Given the description of an element on the screen output the (x, y) to click on. 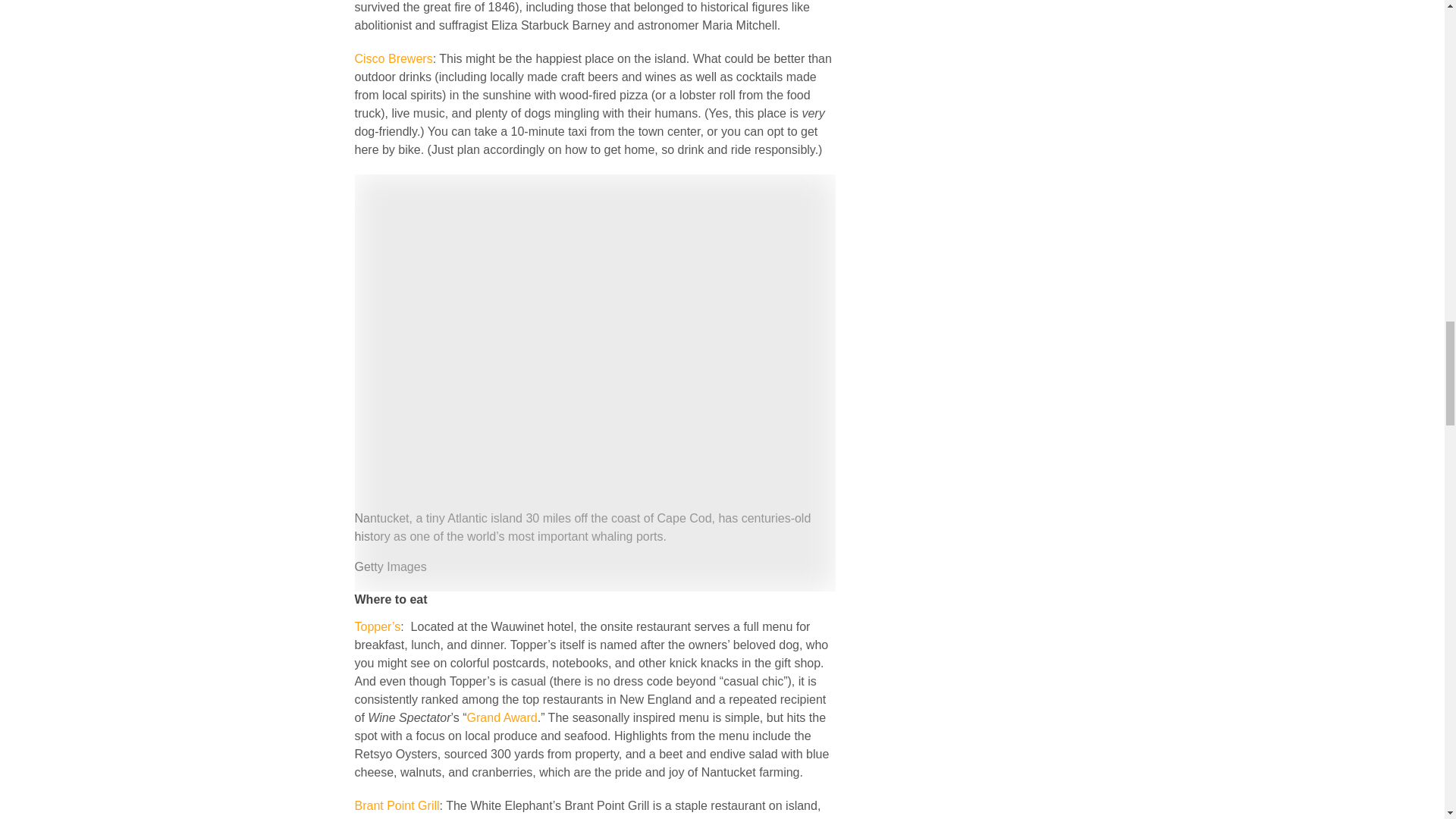
Brant Point Grill (397, 805)
Grand Award (502, 717)
Cisco Brewers (393, 58)
